Given the description of an element on the screen output the (x, y) to click on. 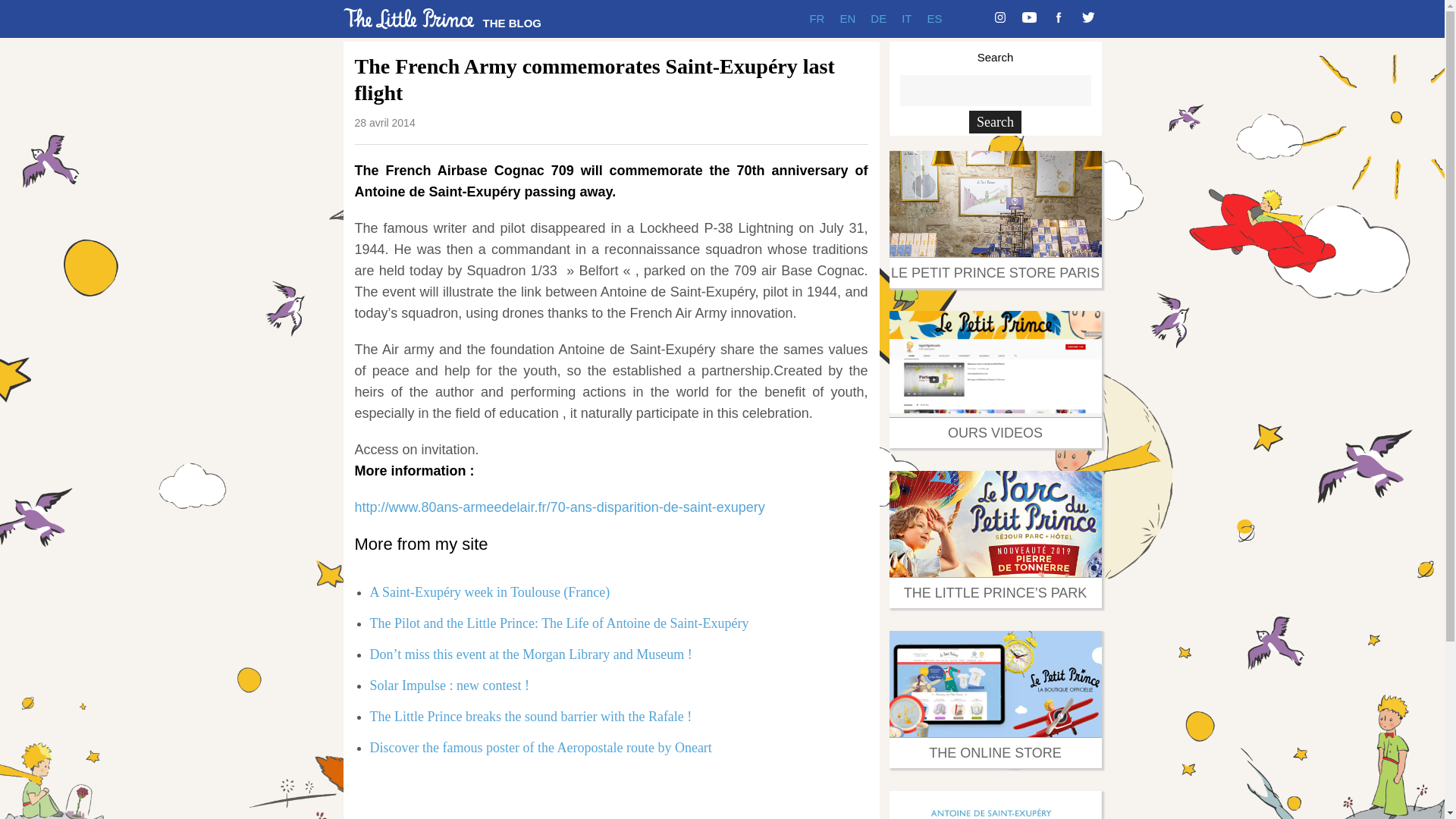
Youtube (1029, 18)
OURS VIDEOS (994, 432)
Solar Impulse : new contest ! (449, 685)
Instagram (1000, 18)
LE PETIT PRINCE STORE PARIS (995, 272)
The Little Prince (511, 22)
IT (905, 18)
ES (933, 18)
Twitter (1087, 18)
Facebook (1058, 18)
The Little Prince breaks the sound barrier with the Rafale ! (531, 716)
EN (847, 18)
DE (878, 18)
The Little Prince (408, 18)
